Given the description of an element on the screen output the (x, y) to click on. 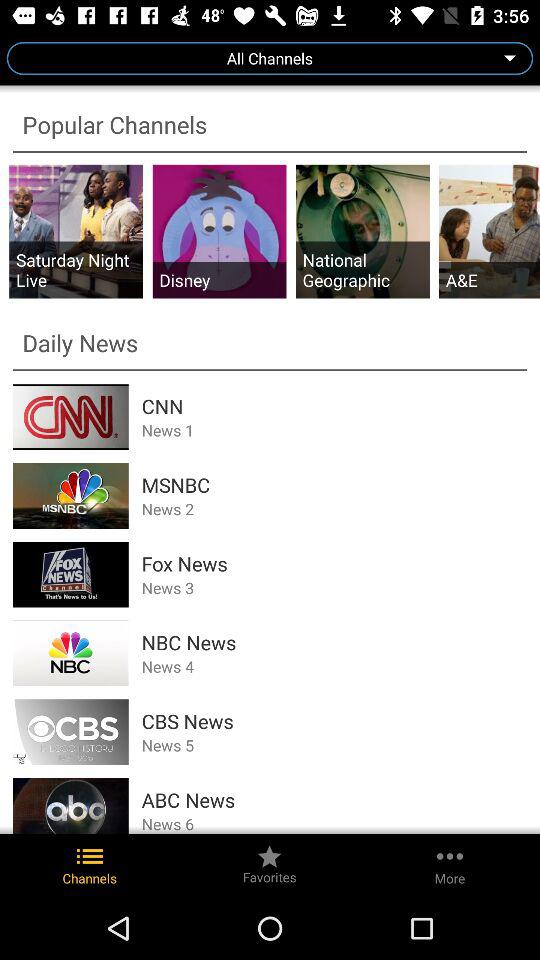
press the national geographic (362, 269)
